Given the description of an element on the screen output the (x, y) to click on. 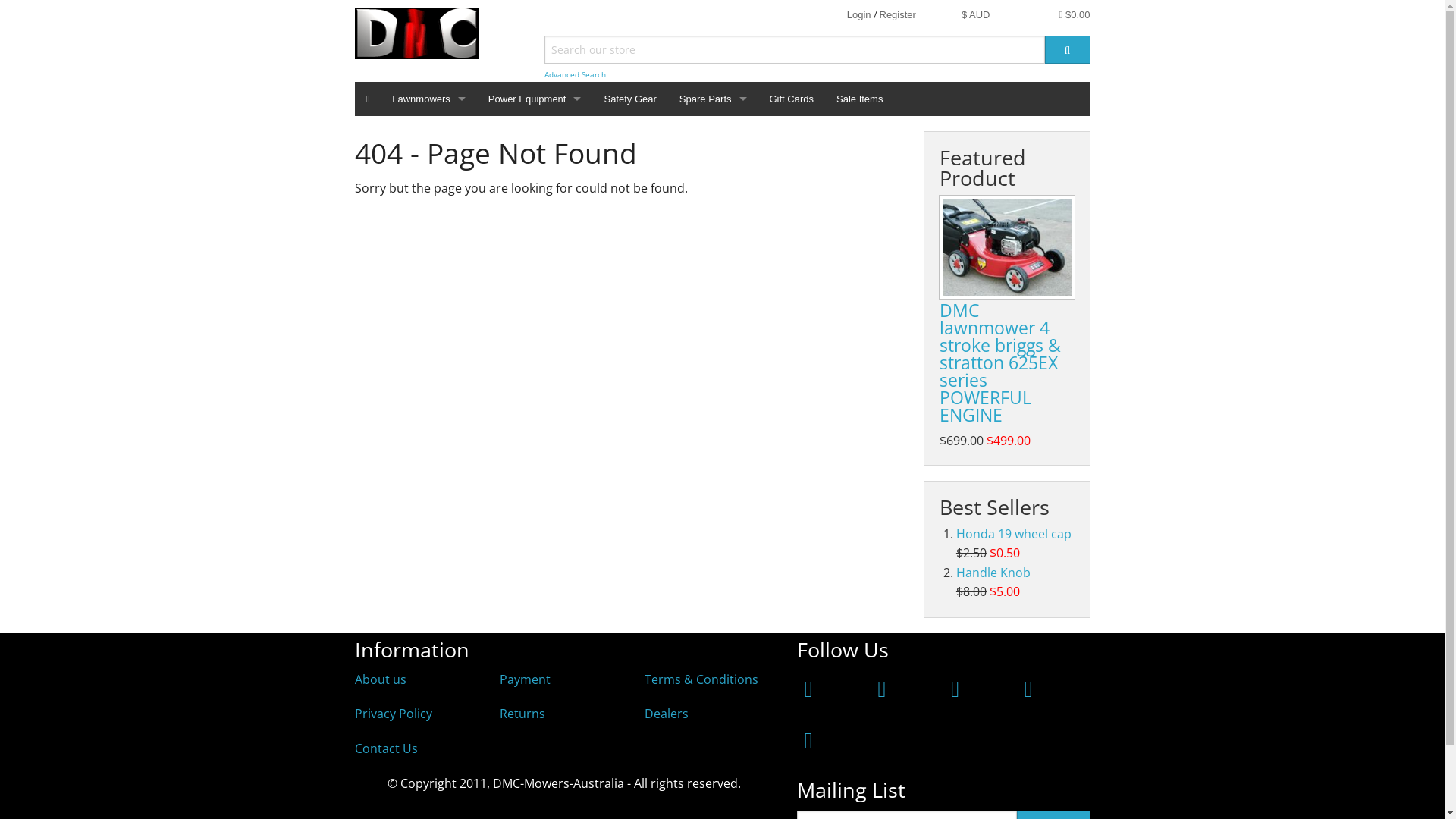
Contact Us Element type: text (385, 748)
Sprayers Element type: text (534, 493)
YouTube Element type: hover (1028, 687)
Lawnmowers Element type: text (428, 98)
Chainsaw & accessories Element type: text (534, 288)
Instagram Element type: hover (882, 687)
Brush-cutter Element type: text (534, 220)
Post Driver Element type: text (534, 424)
Handle Knob Element type: text (993, 572)
Cables & Controls Element type: text (713, 220)
Dealers Element type: text (666, 713)
Sale Items Element type: text (859, 98)
Search Element type: text (1067, 49)
Power Equipment Element type: text (534, 98)
Trimline Element type: text (713, 459)
Leaf blower Element type: text (534, 356)
Register Element type: text (897, 14)
chainsaw parts Element type: text (713, 254)
$0.00 Element type: text (1074, 14)
Power Cleaners Element type: text (534, 151)
Wheels & axles Element type: text (713, 493)
Pumps Element type: text (534, 459)
Oils Element type: text (713, 356)
Grass catchers Element type: text (713, 322)
Home Element type: hover (367, 98)
Privacy Policy Element type: text (393, 713)
Cutting Heads Element type: text (713, 288)
Edger Element type: text (534, 186)
Transmission & Engine parts Element type: text (713, 424)
Ride-on mower accessories Element type: text (713, 390)
Payment Element type: text (524, 679)
Self propelled mower Element type: text (428, 186)
Pinterest Element type: hover (954, 687)
Blades Element type: text (713, 186)
Air Filters Element type: text (713, 151)
Ride-On Mowers / Zero Turn Mowers Element type: text (428, 151)
Honda 19 wheel cap Element type: text (1013, 533)
Terms & Conditions Element type: text (701, 679)
Gift Cards Element type: text (791, 98)
Cordless re-chargable range Element type: text (534, 390)
Returns Element type: text (522, 713)
Advanced Search Element type: text (574, 74)
Spare Parts Element type: text (713, 98)
Hedge pruner Element type: text (534, 322)
multifunctional brushcutter Element type: text (534, 254)
Safety Gear Element type: text (629, 98)
Facebook Element type: hover (808, 687)
Login Element type: text (859, 14)
About us Element type: text (380, 679)
Tumblr Element type: hover (808, 739)
